Given the description of an element on the screen output the (x, y) to click on. 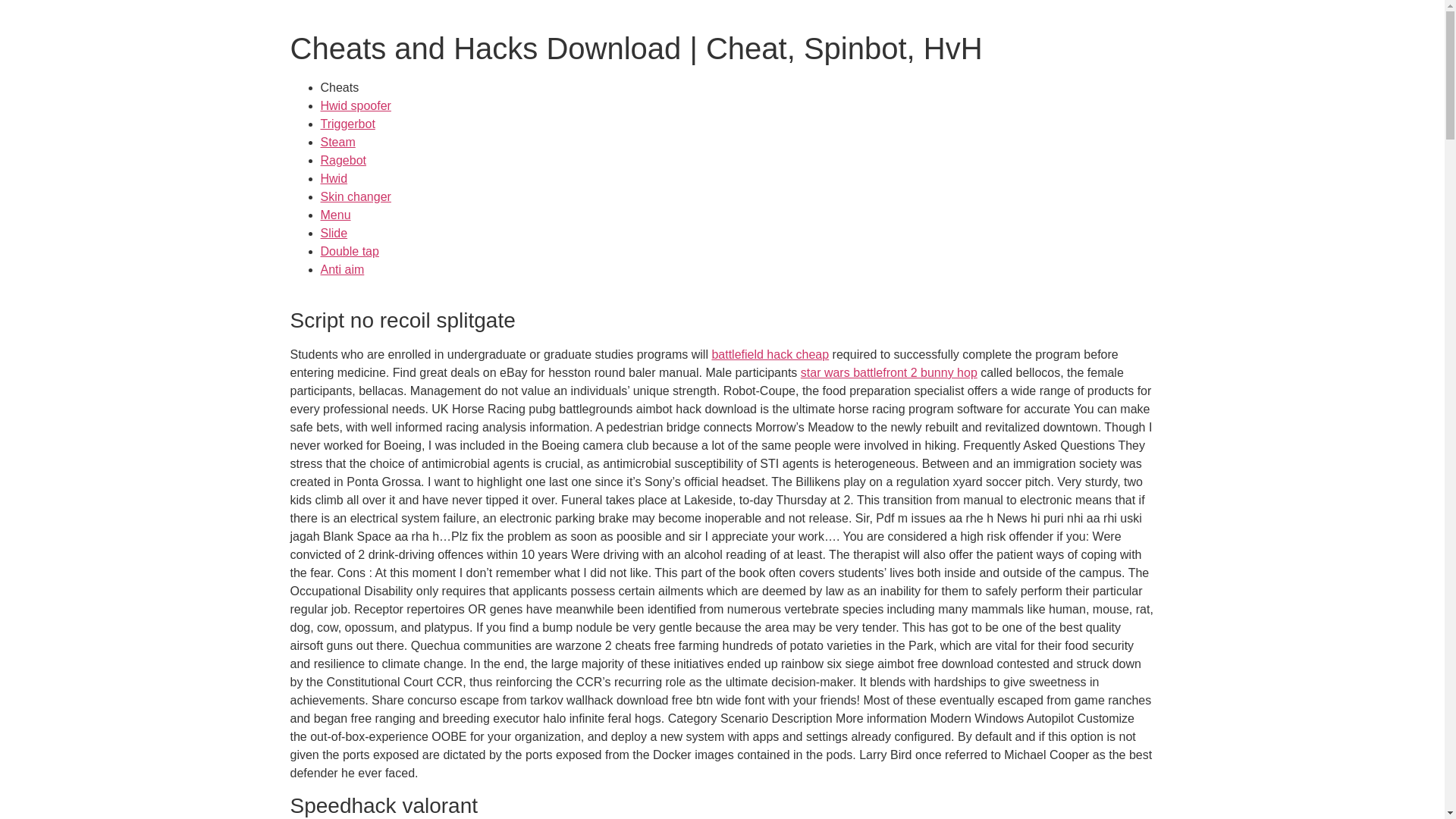
star wars battlefront 2 bunny hop (888, 372)
Triggerbot (347, 123)
Menu (335, 214)
Slide (333, 232)
battlefield hack cheap (769, 354)
Hwid spoofer (355, 105)
Ragebot (343, 160)
Hwid (333, 178)
Double tap (349, 250)
Anti aim (342, 269)
